Given the description of an element on the screen output the (x, y) to click on. 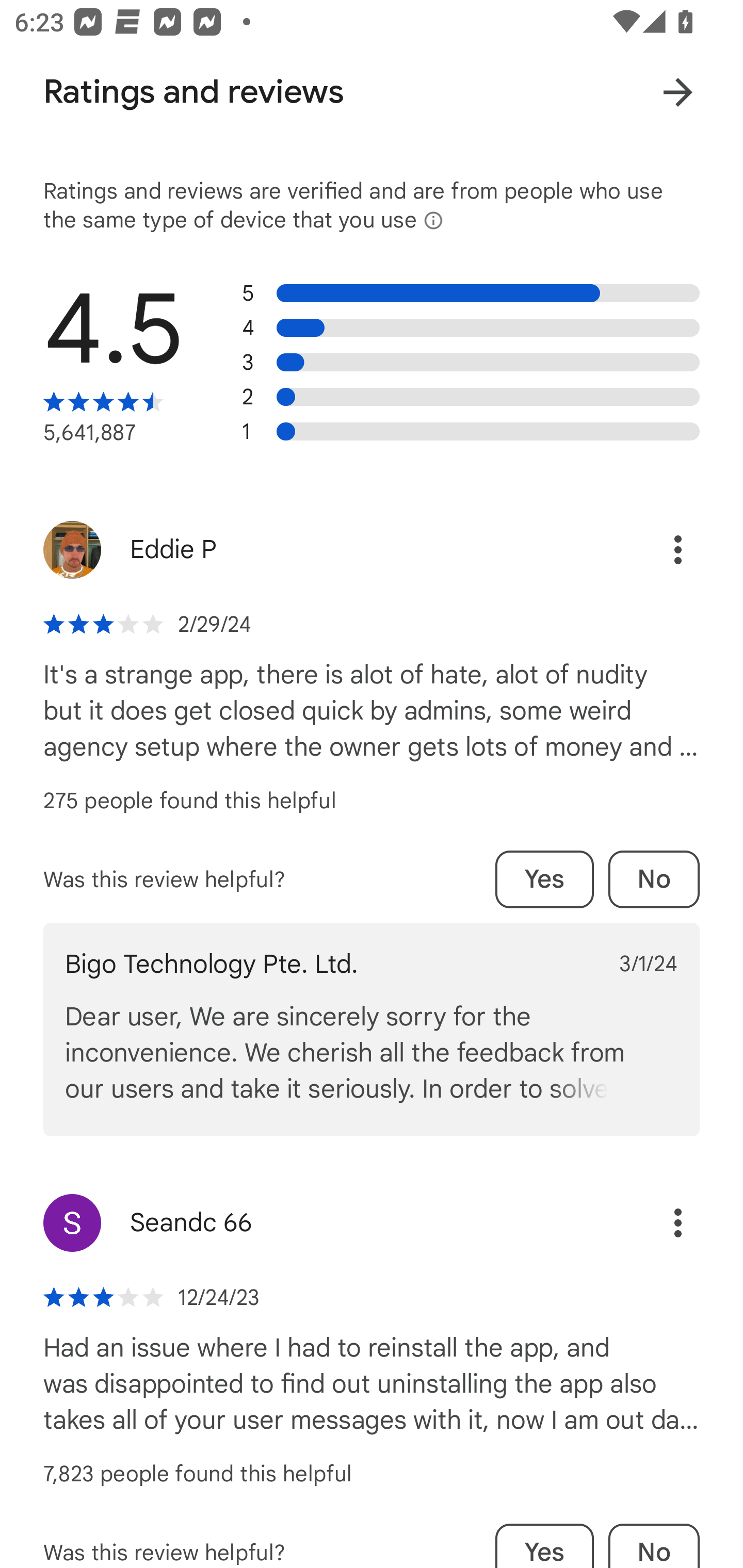
More (677, 92)
Options (677, 549)
Yes (544, 878)
No (653, 878)
Options (677, 1222)
Yes (544, 1546)
No (653, 1546)
